Given the description of an element on the screen output the (x, y) to click on. 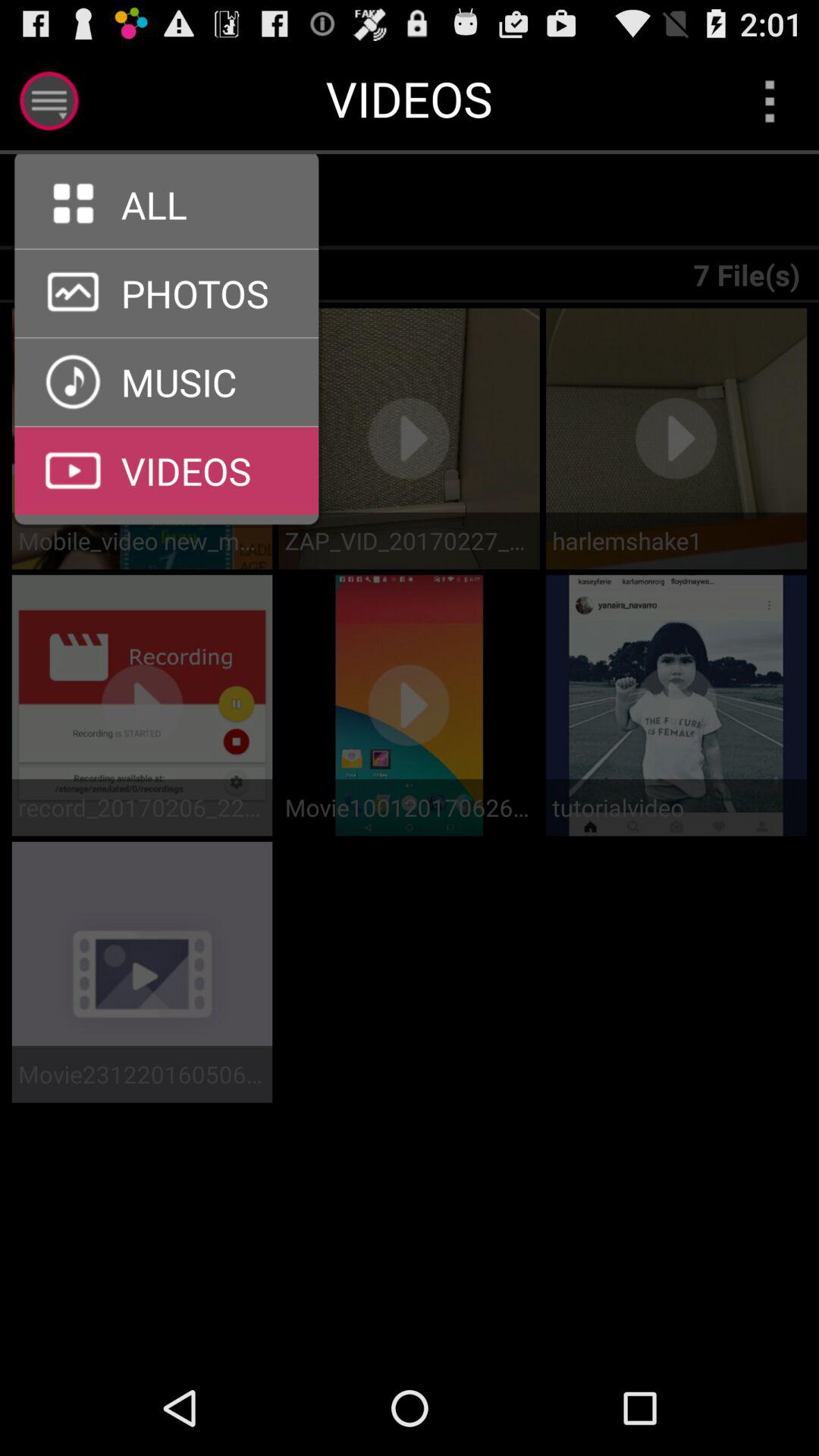
select the zap_vid_20170227_214607 item (408, 540)
